Given the description of an element on the screen output the (x, y) to click on. 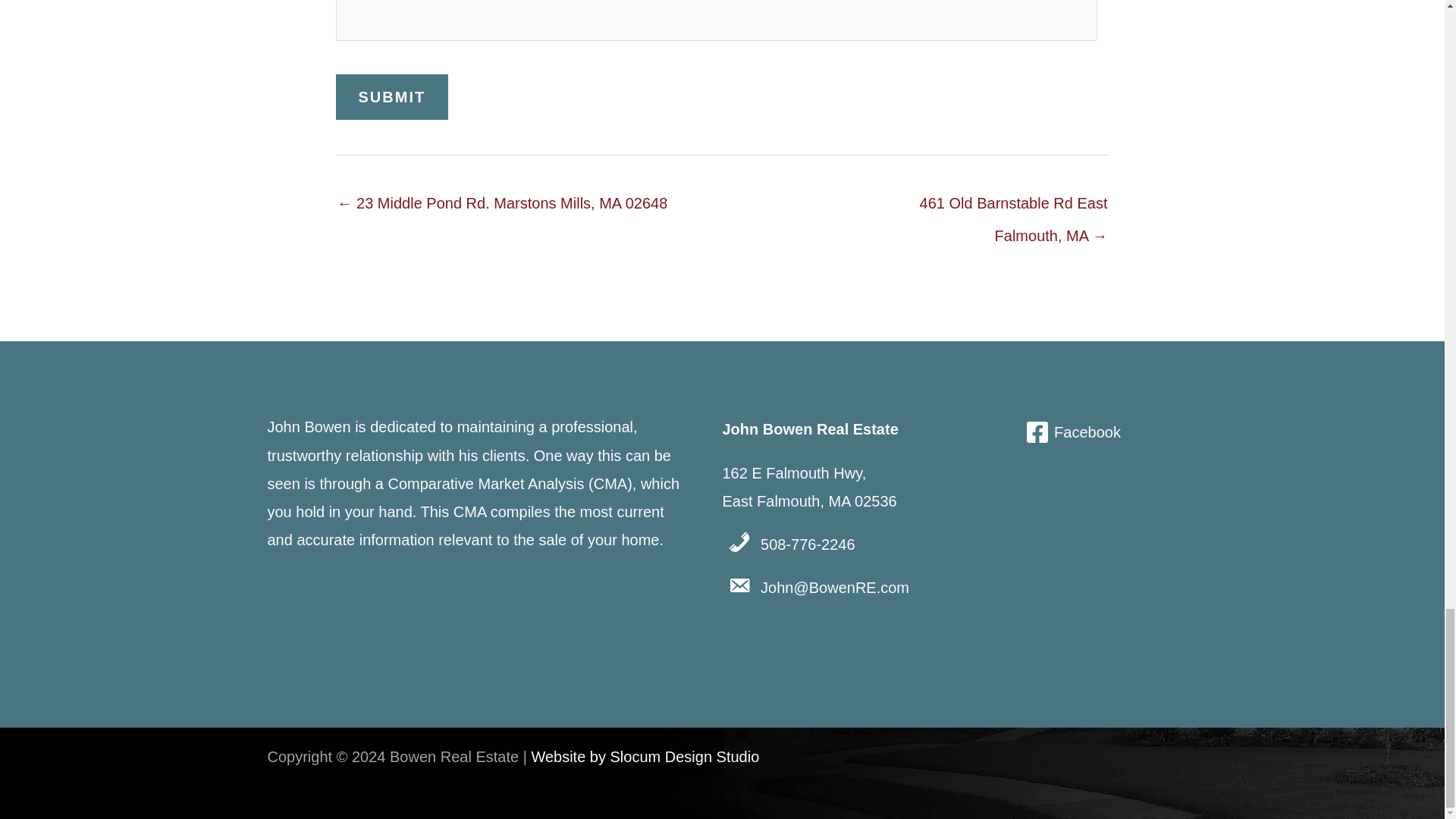
Submit (391, 96)
